Given the description of an element on the screen output the (x, y) to click on. 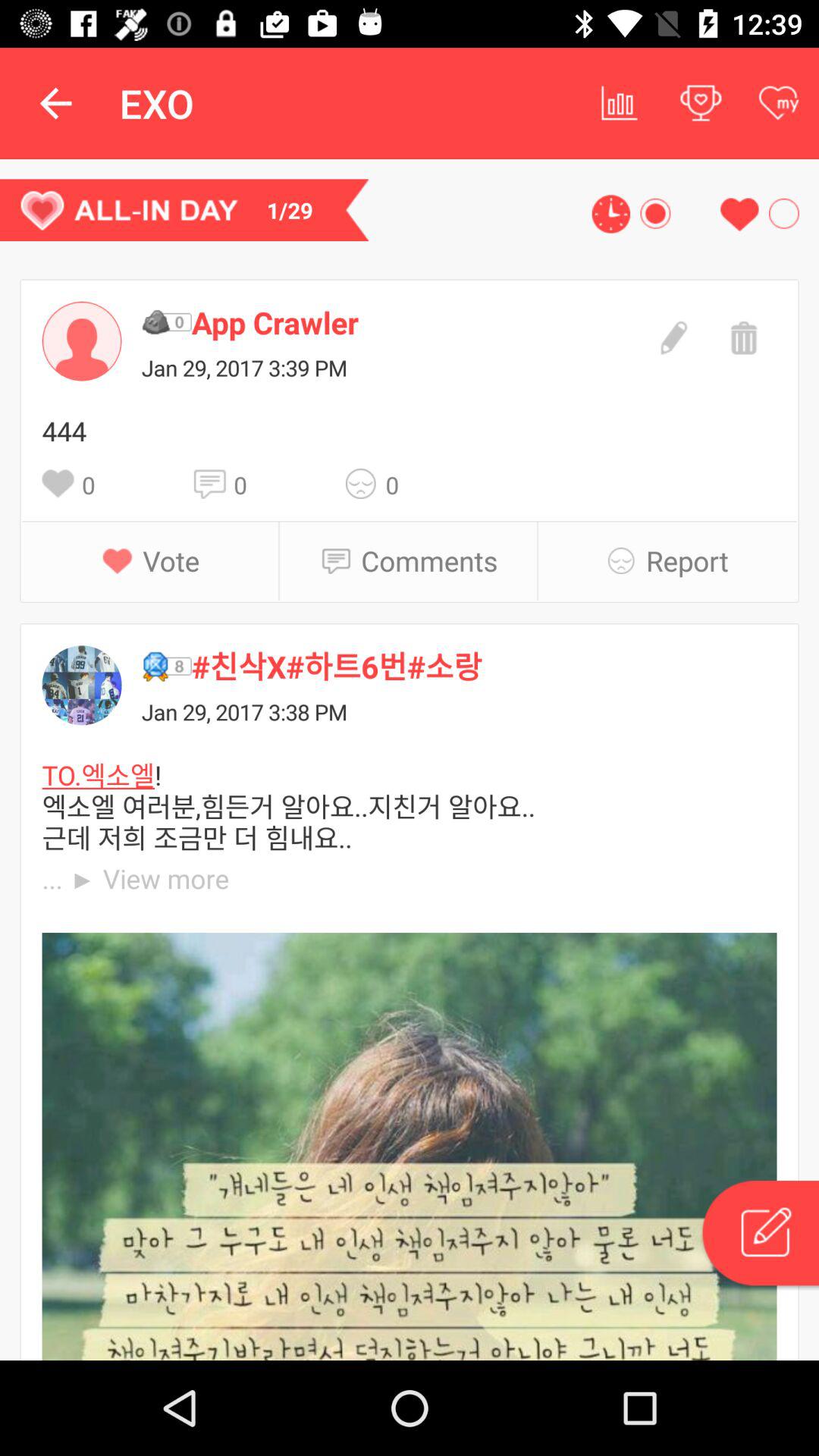
click the app to the left of the exo app (55, 103)
